Given the description of an element on the screen output the (x, y) to click on. 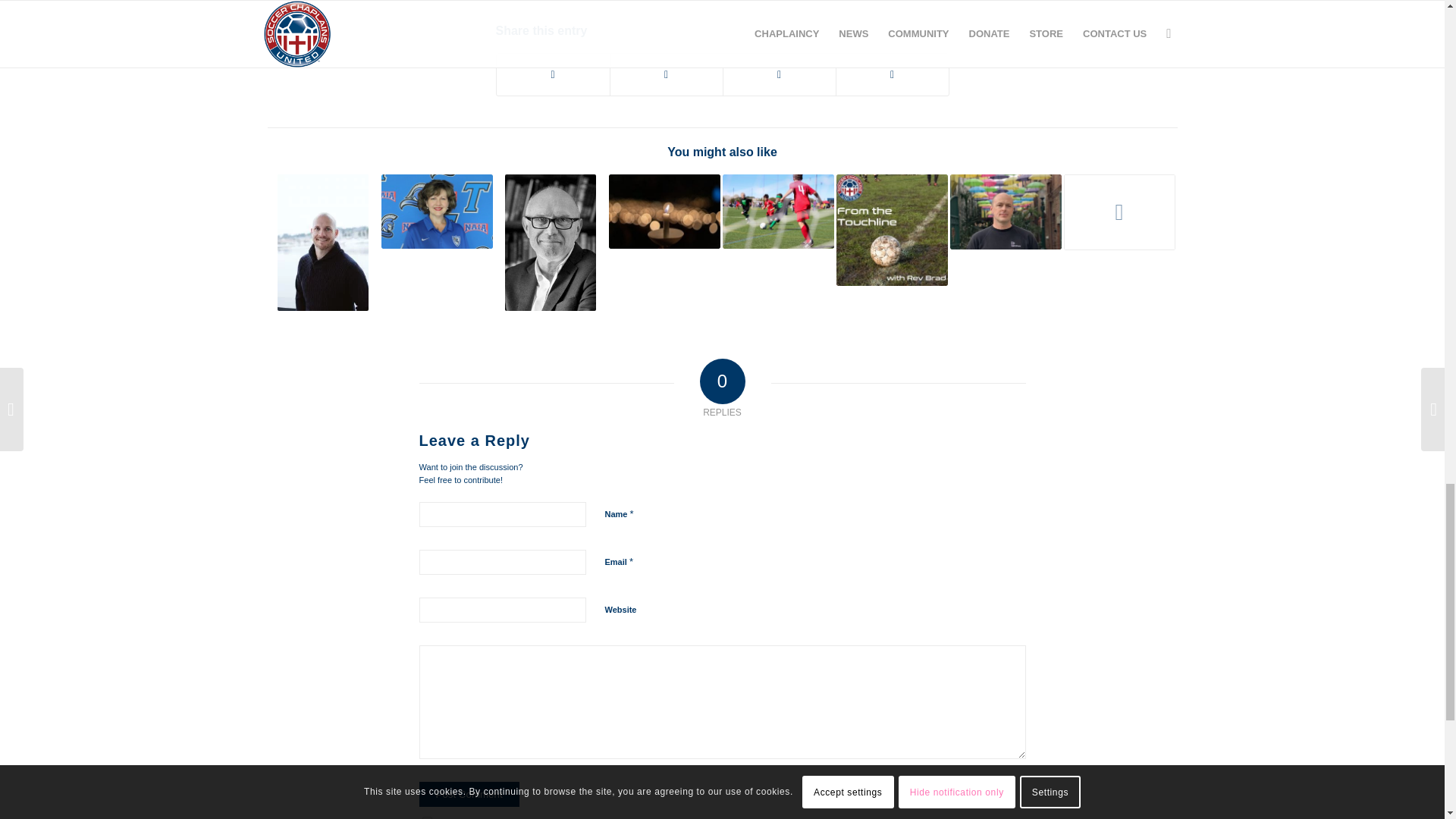
Post Comment (468, 793)
